Given the description of an element on the screen output the (x, y) to click on. 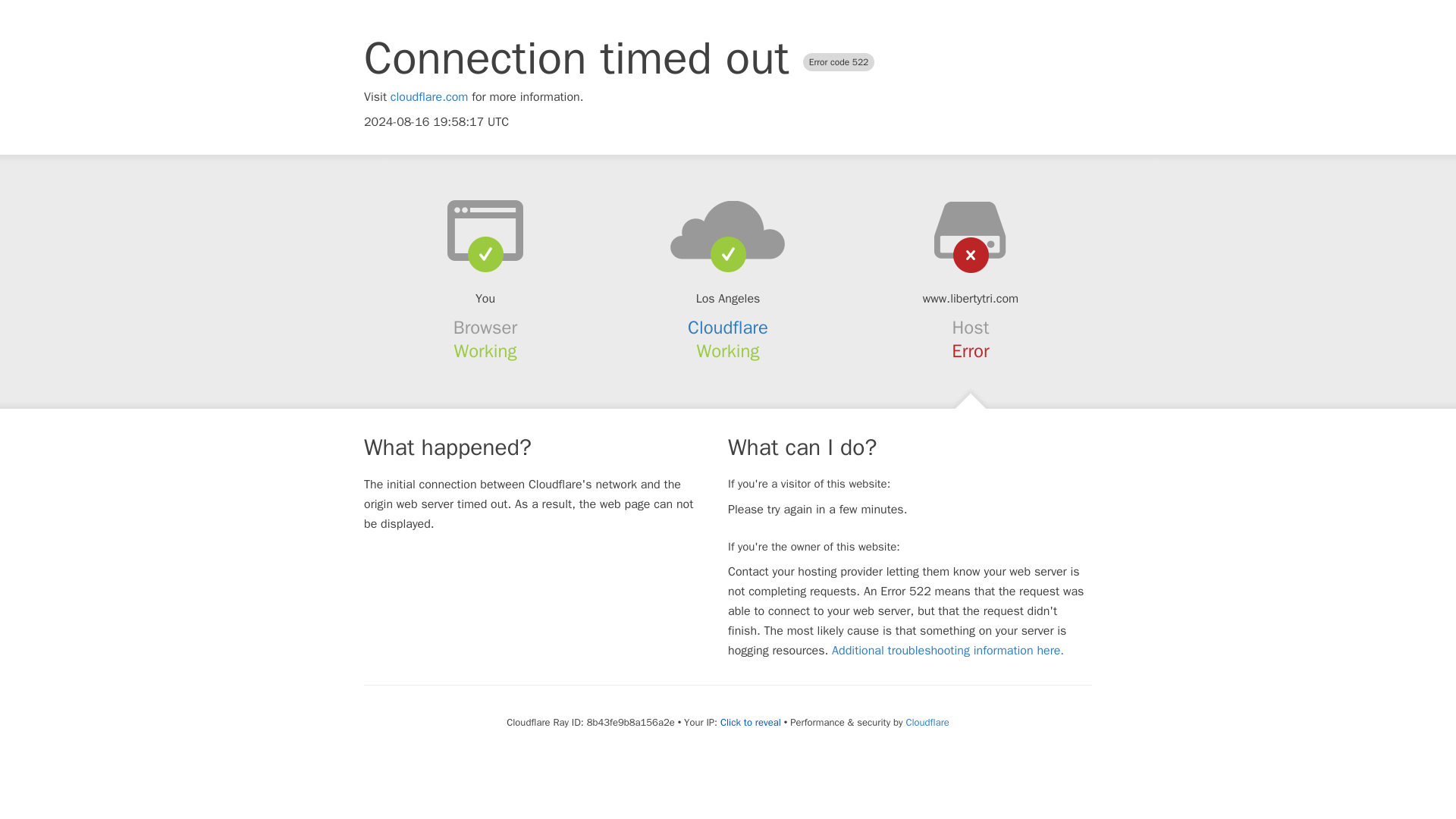
Click to reveal (750, 722)
Cloudflare (927, 721)
Additional troubleshooting information here. (947, 650)
cloudflare.com (429, 96)
Cloudflare (727, 327)
